Given the description of an element on the screen output the (x, y) to click on. 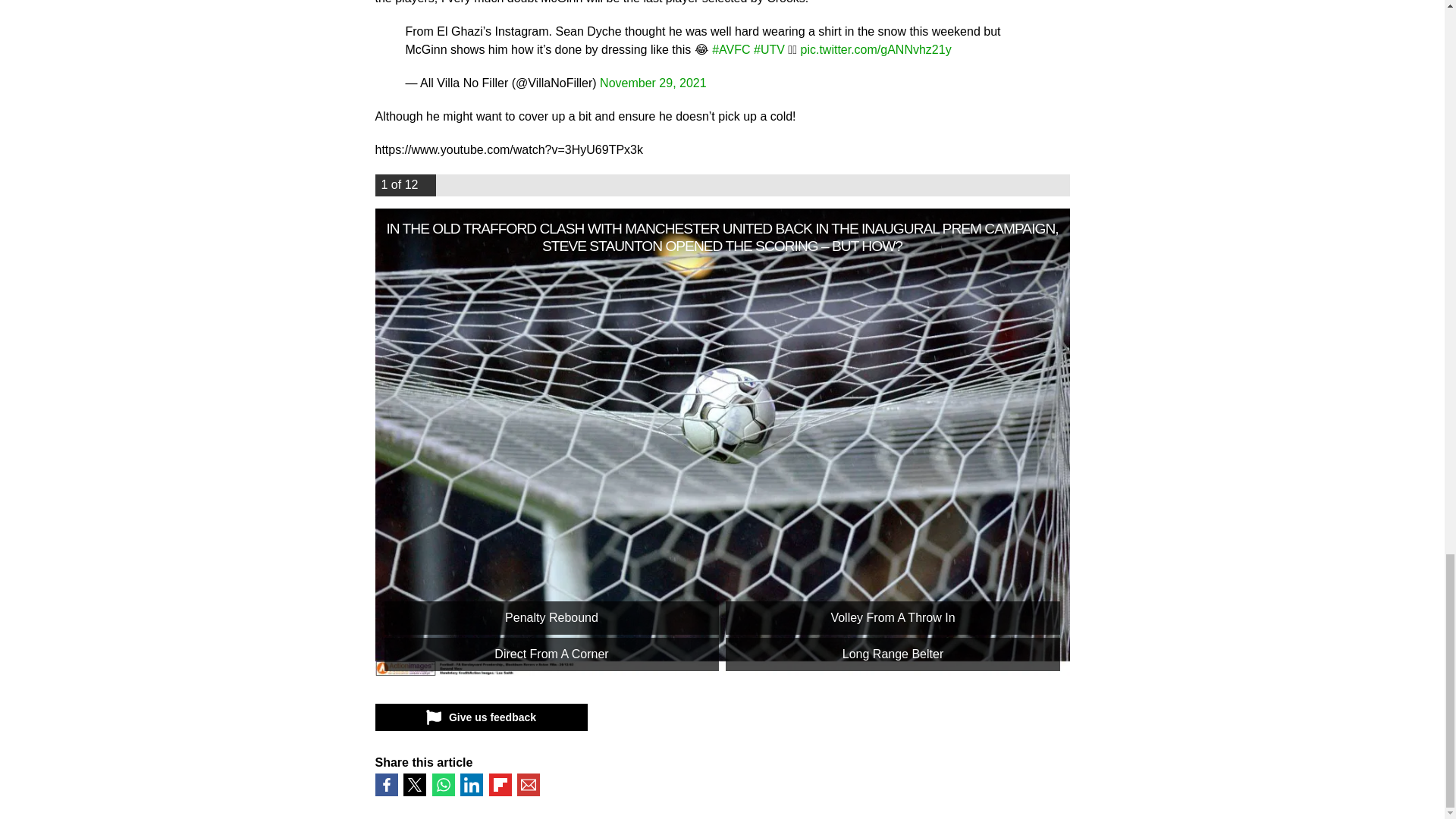
Long Range Belter (892, 654)
share on Facebook (385, 784)
Volley From A Throw In (892, 617)
November 29, 2021 (652, 82)
Direct From A Corner (551, 654)
Long Range Belter (892, 654)
Give us feedback (480, 717)
Volley From A Throw In (892, 617)
Penalty Rebound (551, 617)
Direct From A Corner (551, 654)
